Given the description of an element on the screen output the (x, y) to click on. 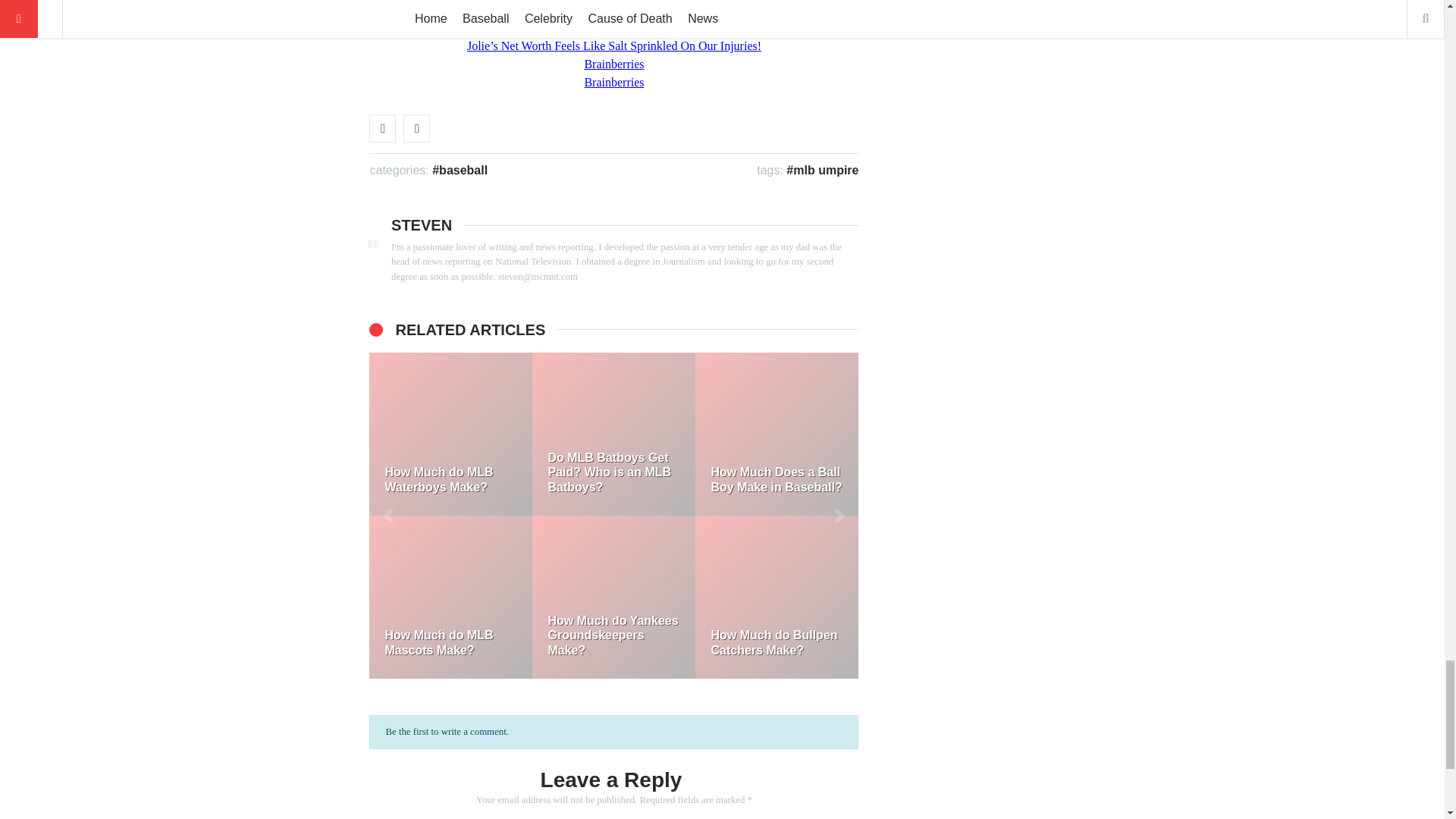
How Much Does a Ball Boy Make in Baseball? (777, 433)
How Much do MLB Waterboys Make? (450, 433)
STEVEN (421, 225)
Posts by Steven (421, 225)
Do MLB Batboys Get Paid? Who is an MLB Batboys? (613, 433)
How Much do MLB Mascots Make? (450, 596)
How Much do Bullpen Catchers Make? (777, 596)
How Much do Yankees Groundskeepers Make? (613, 596)
baseball (459, 169)
mlb umpire (822, 169)
